Given the description of an element on the screen output the (x, y) to click on. 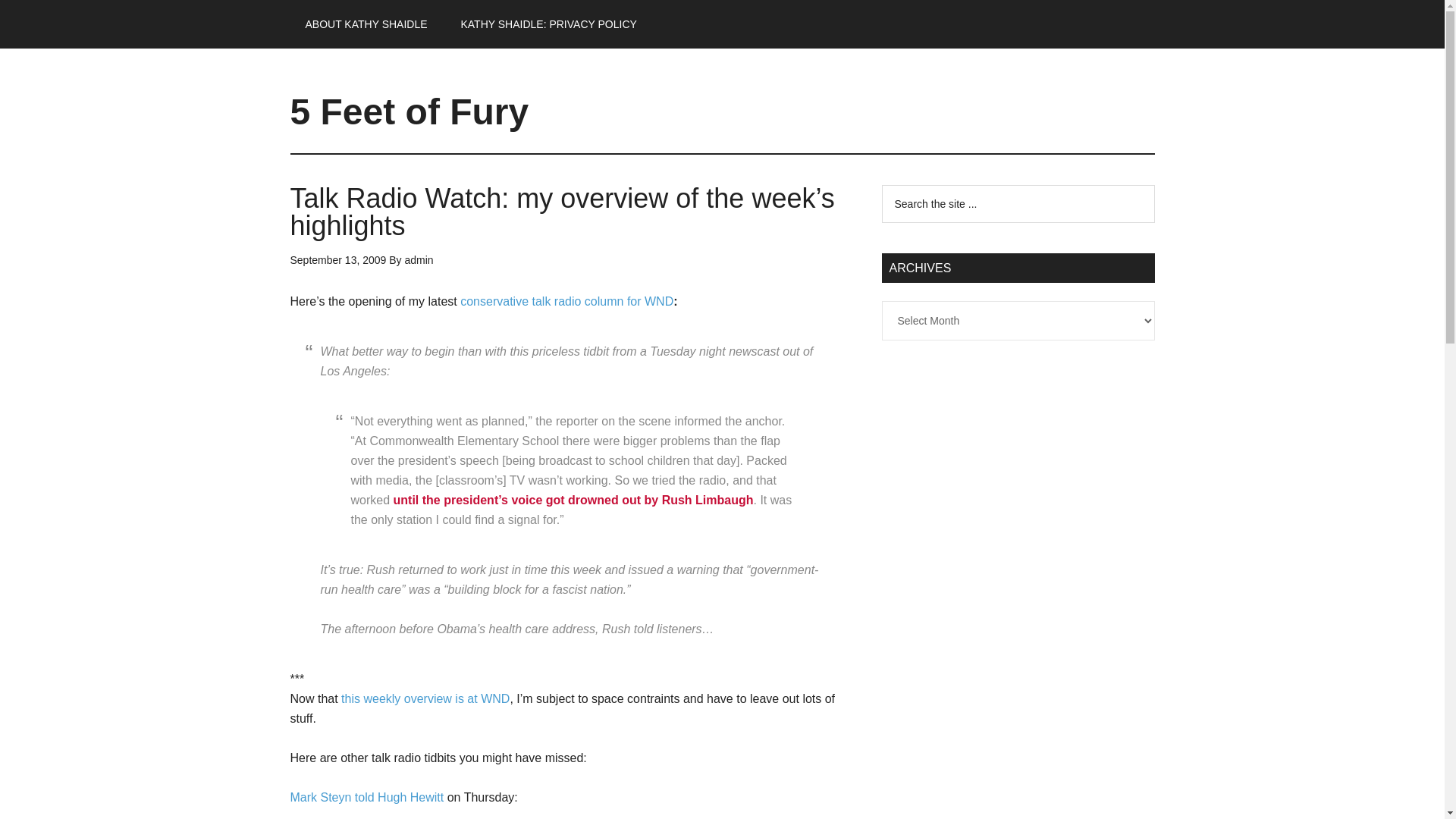
ABOUT KATHY SHAIDLE (365, 24)
conservative talk radio column for WND (566, 300)
this weekly overview is at WND (424, 698)
conservative talk radio (566, 300)
5 Feet of Fury (408, 111)
KATHY SHAIDLE: PRIVACY POLICY (547, 24)
conservative talk radio (424, 698)
admin (418, 259)
